Given the description of an element on the screen output the (x, y) to click on. 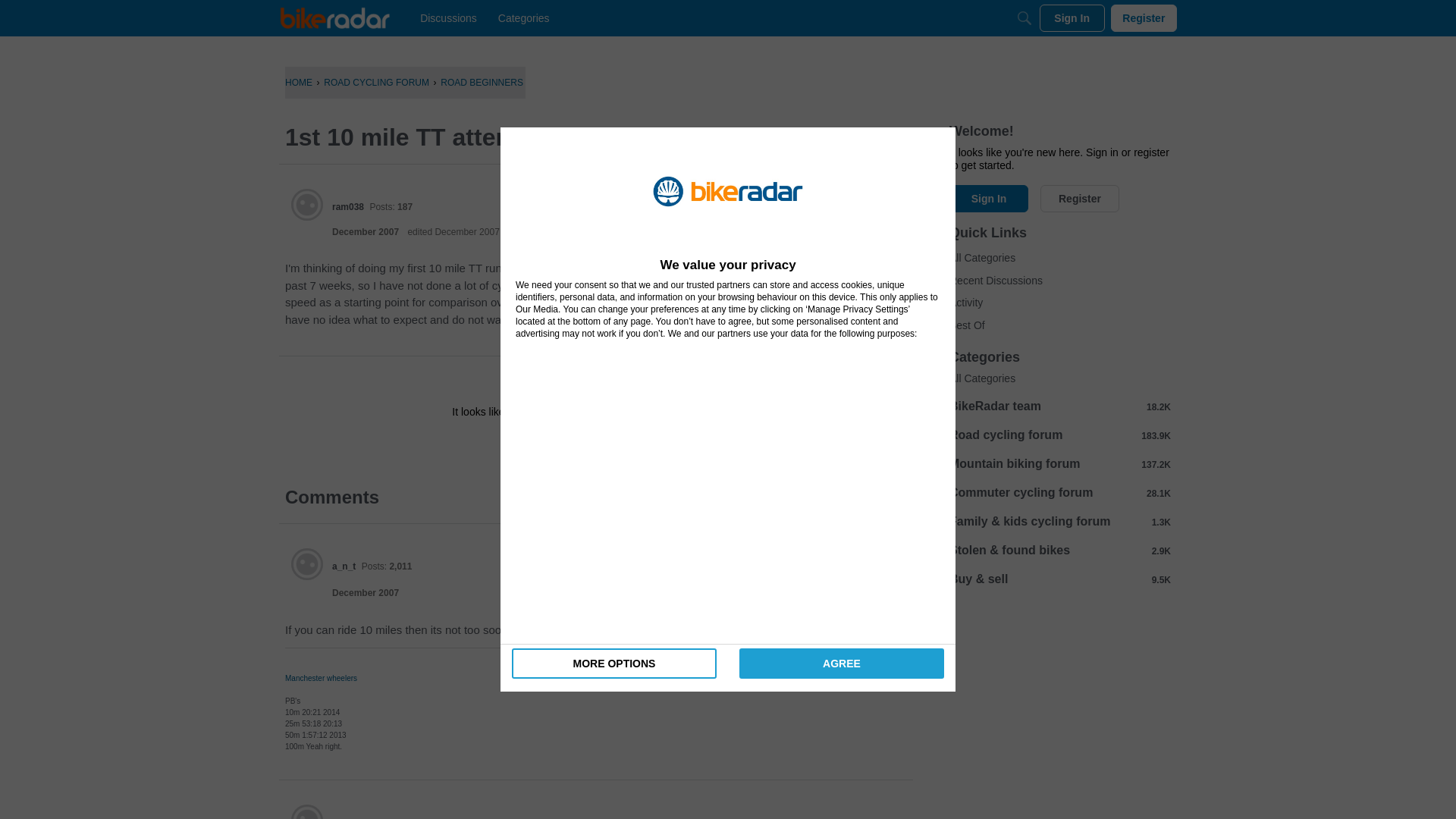
Search (1024, 17)
CarlosFerreiro (362, 818)
ROAD CYCLING FORUM (376, 81)
December 2007 (364, 593)
HOME (299, 81)
December 13, 2007 5:30PM (364, 593)
Categories (524, 17)
December 13, 2007 5:17PM (364, 231)
ram038 (307, 204)
Sign In (547, 445)
CarlosFerreiro (307, 811)
December 2007 (364, 231)
Register (638, 445)
Register (1143, 17)
Edited December 31, 2007 1:33AM. (453, 231)
